Given the description of an element on the screen output the (x, y) to click on. 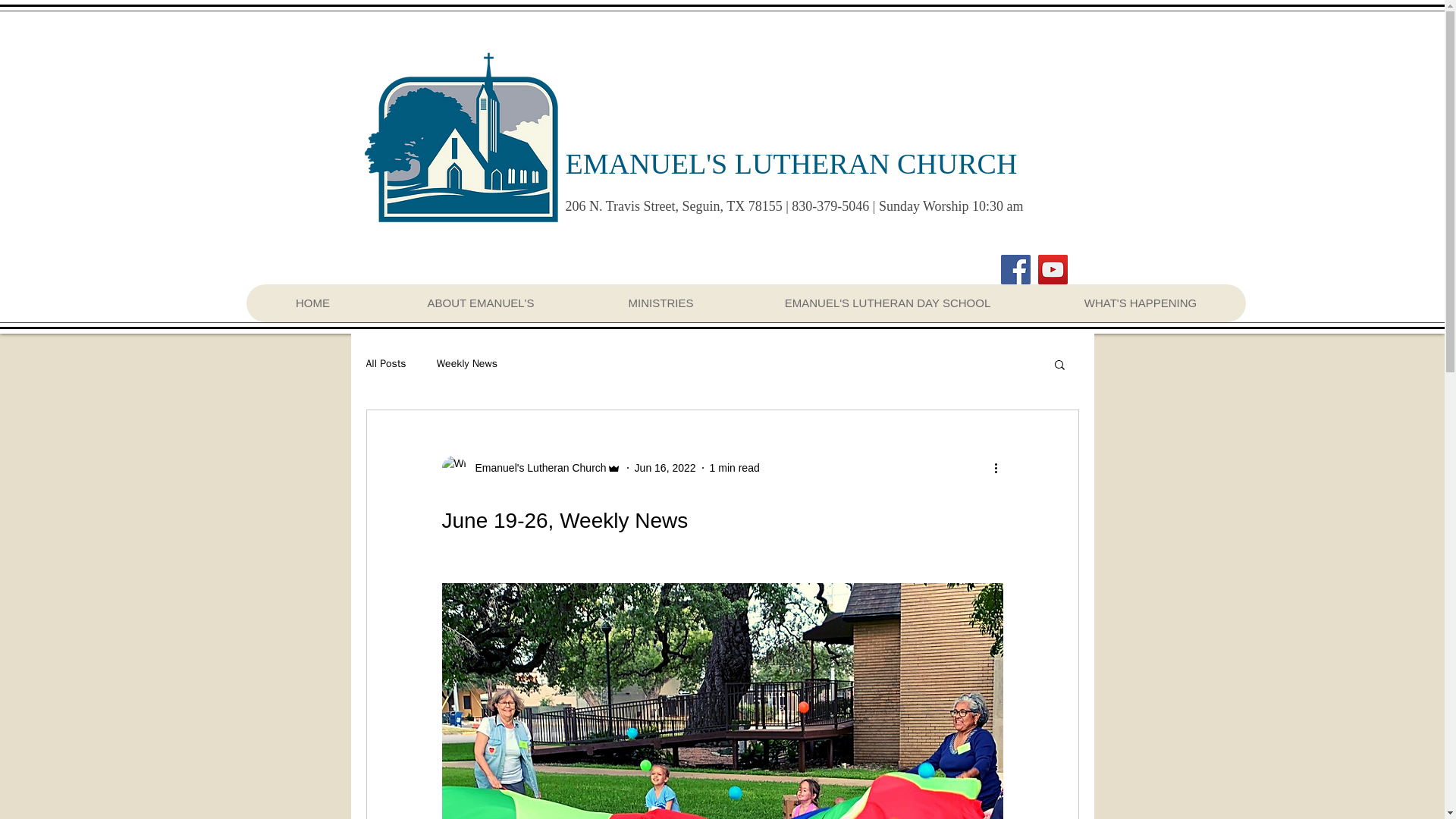
Weekly News (466, 364)
HOME (312, 303)
All Posts (385, 364)
Emanuel's Lutheran Church (530, 467)
1 min read (735, 467)
Emanuel's Lutheran Church (535, 467)
Jun 16, 2022 (664, 467)
MINISTRIES (659, 303)
EMANUEL'S LUTHERAN DAY SCHOOL (887, 303)
ABOUT EMANUEL'S (479, 303)
